Given the description of an element on the screen output the (x, y) to click on. 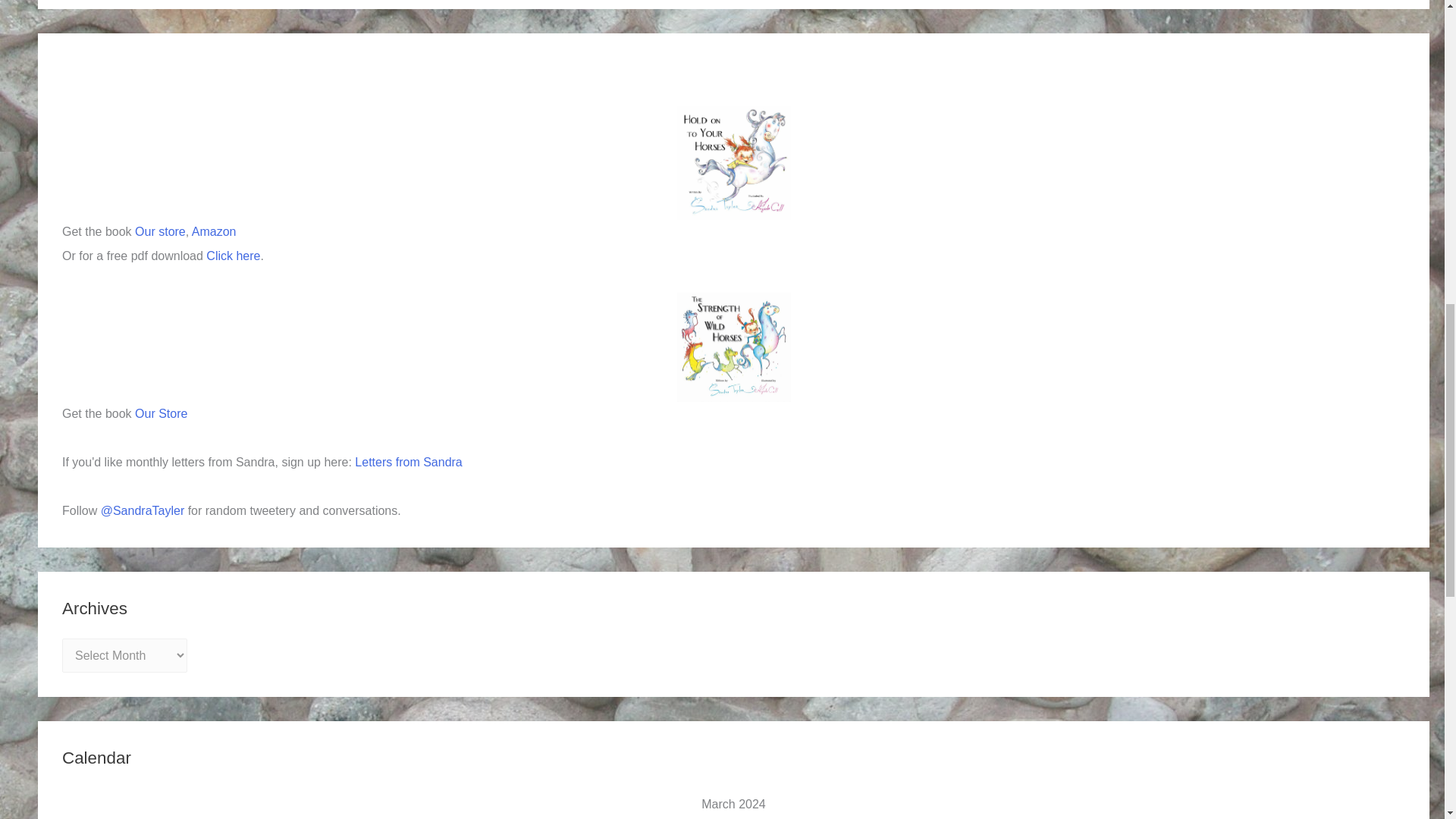
Our Store (161, 413)
Front Cover web (733, 347)
Amazon (213, 231)
Click here (233, 255)
Front Cover web (733, 163)
Letters from Sandra (408, 461)
Our store (160, 231)
